Given the description of an element on the screen output the (x, y) to click on. 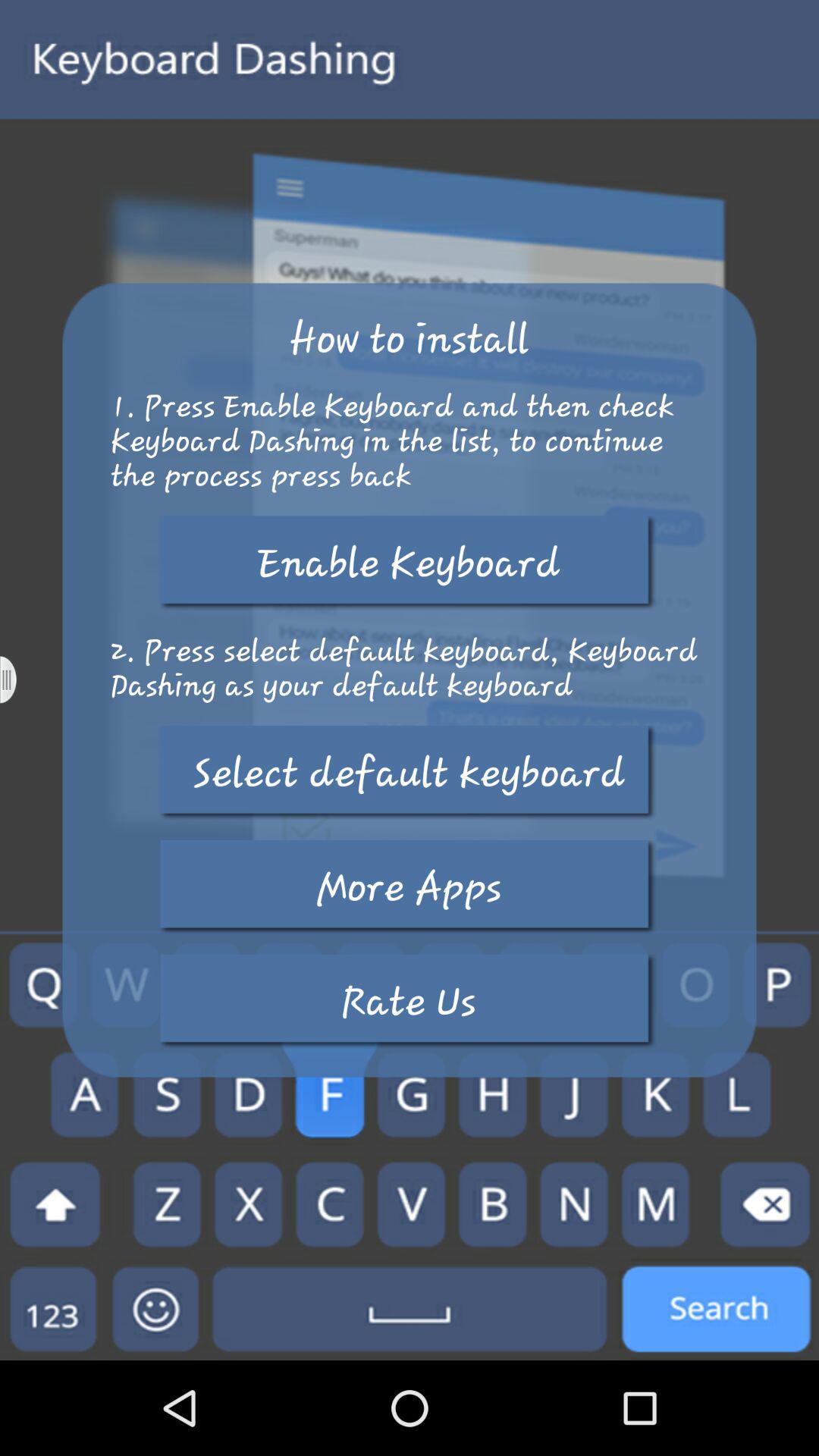
expand menu (18, 679)
